Given the description of an element on the screen output the (x, y) to click on. 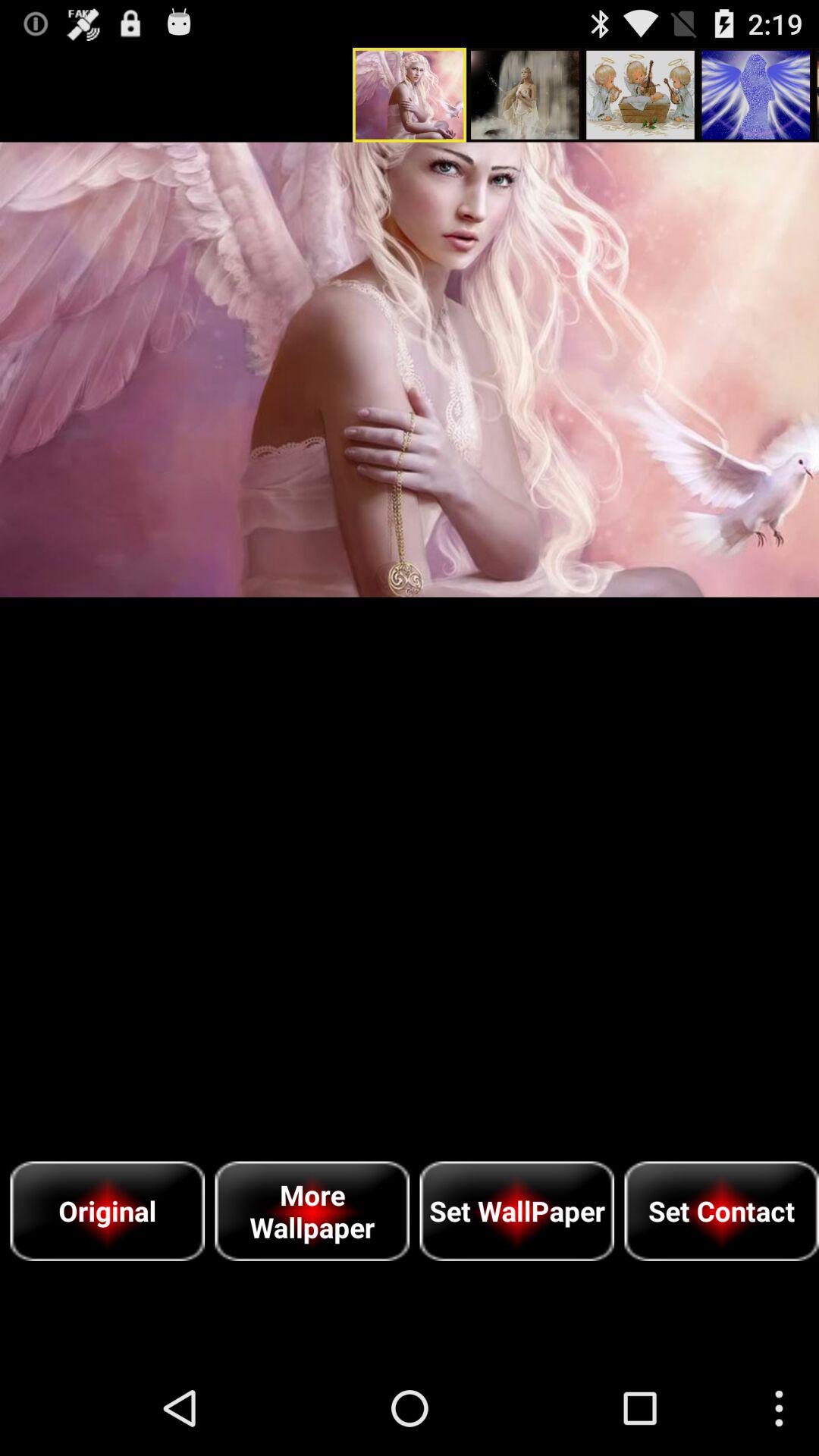
turn off original at the bottom left corner (107, 1210)
